Given the description of an element on the screen output the (x, y) to click on. 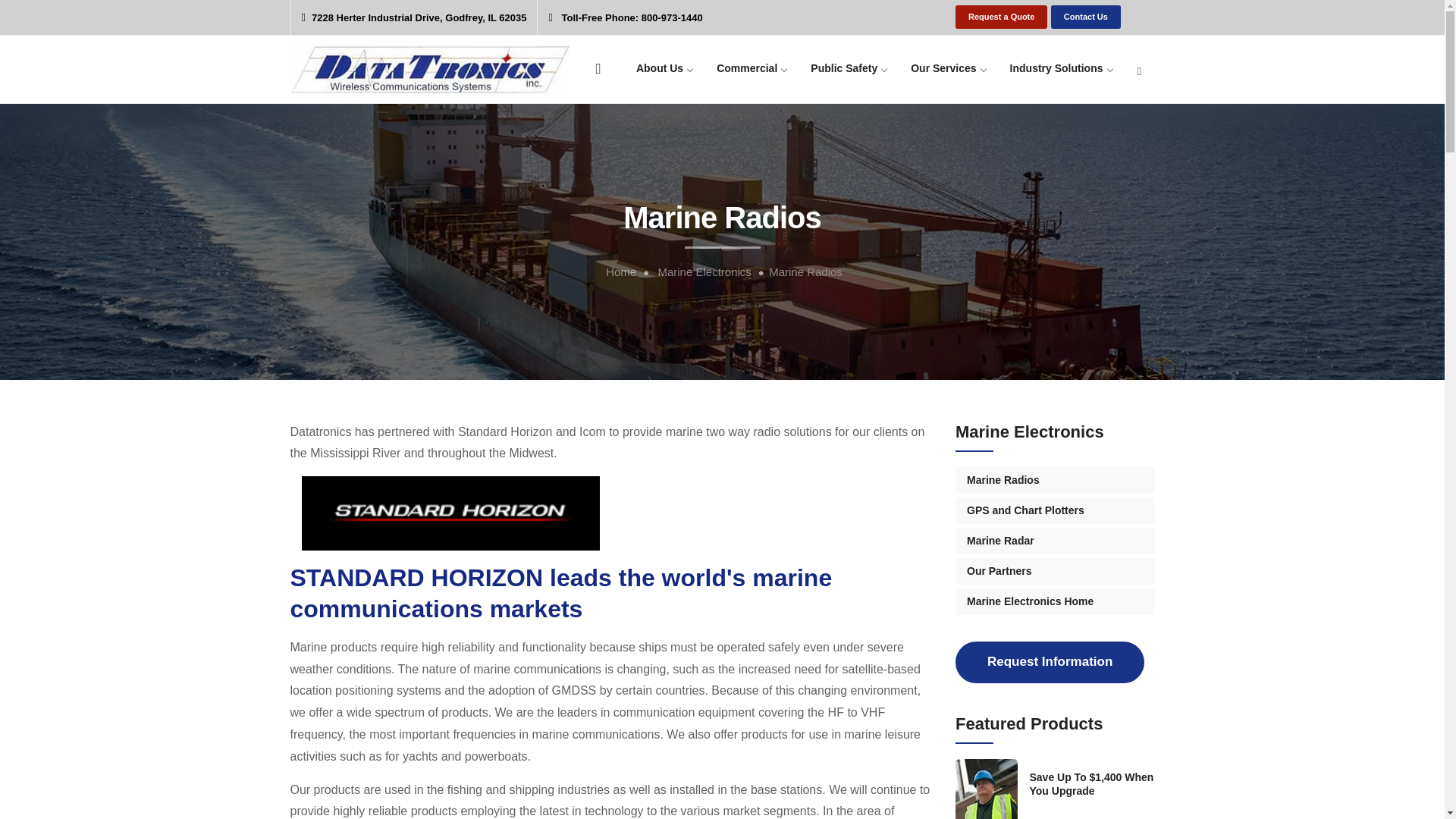
Contact Us (1086, 16)
Commercial (750, 72)
Request a Quote (1000, 16)
About Us (664, 72)
